Given the description of an element on the screen output the (x, y) to click on. 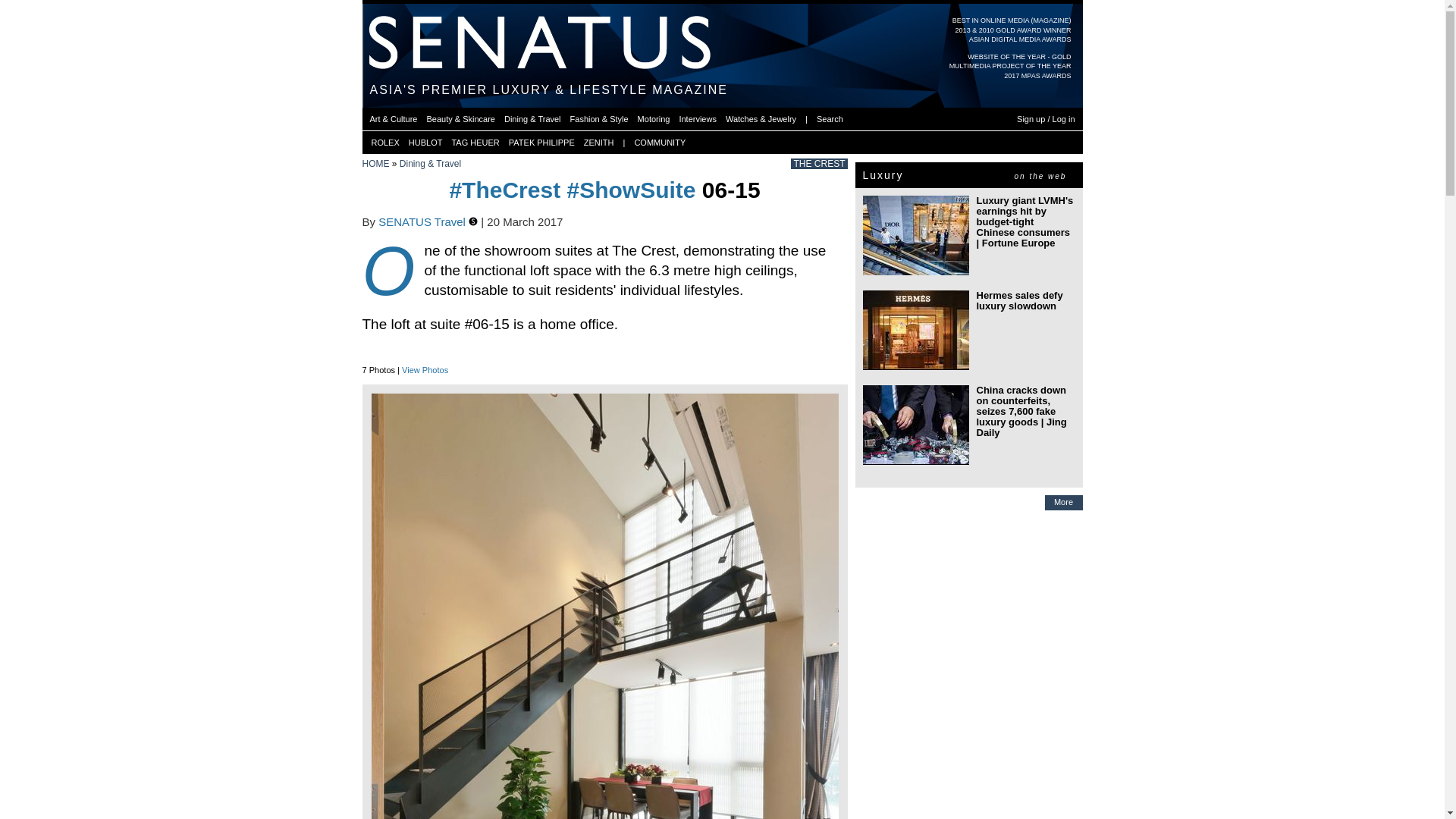
ZENITH (598, 142)
Interviews (697, 118)
Motoring (653, 118)
HUBLOT (425, 142)
TAG HEUER (475, 142)
Search (829, 118)
SENATUS Travel (423, 221)
HOME (376, 163)
View Photos (424, 369)
PATEK PHILIPPE (541, 142)
THE CREST (818, 163)
ROLEX (385, 142)
COMMUNITY (659, 142)
